Given the description of an element on the screen output the (x, y) to click on. 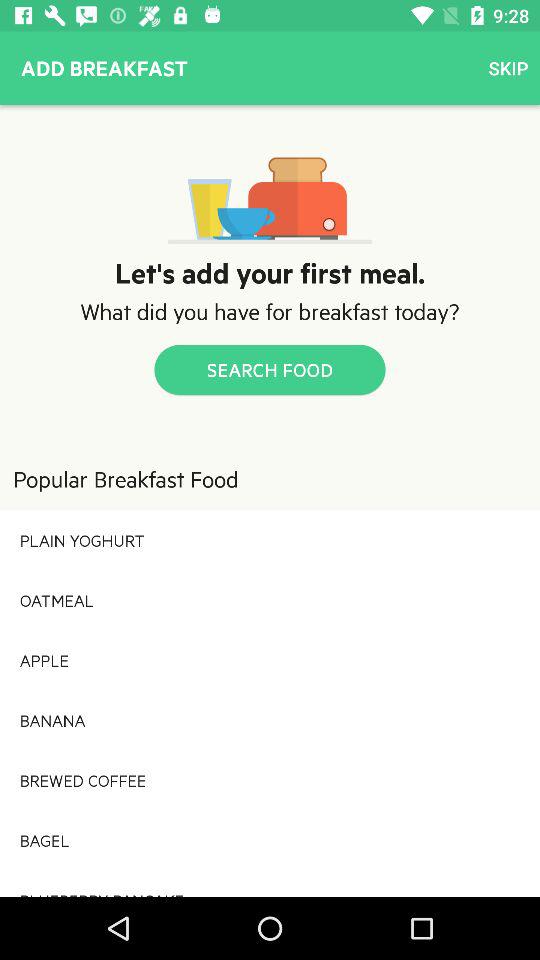
jump until the plain yoghurt (270, 540)
